Given the description of an element on the screen output the (x, y) to click on. 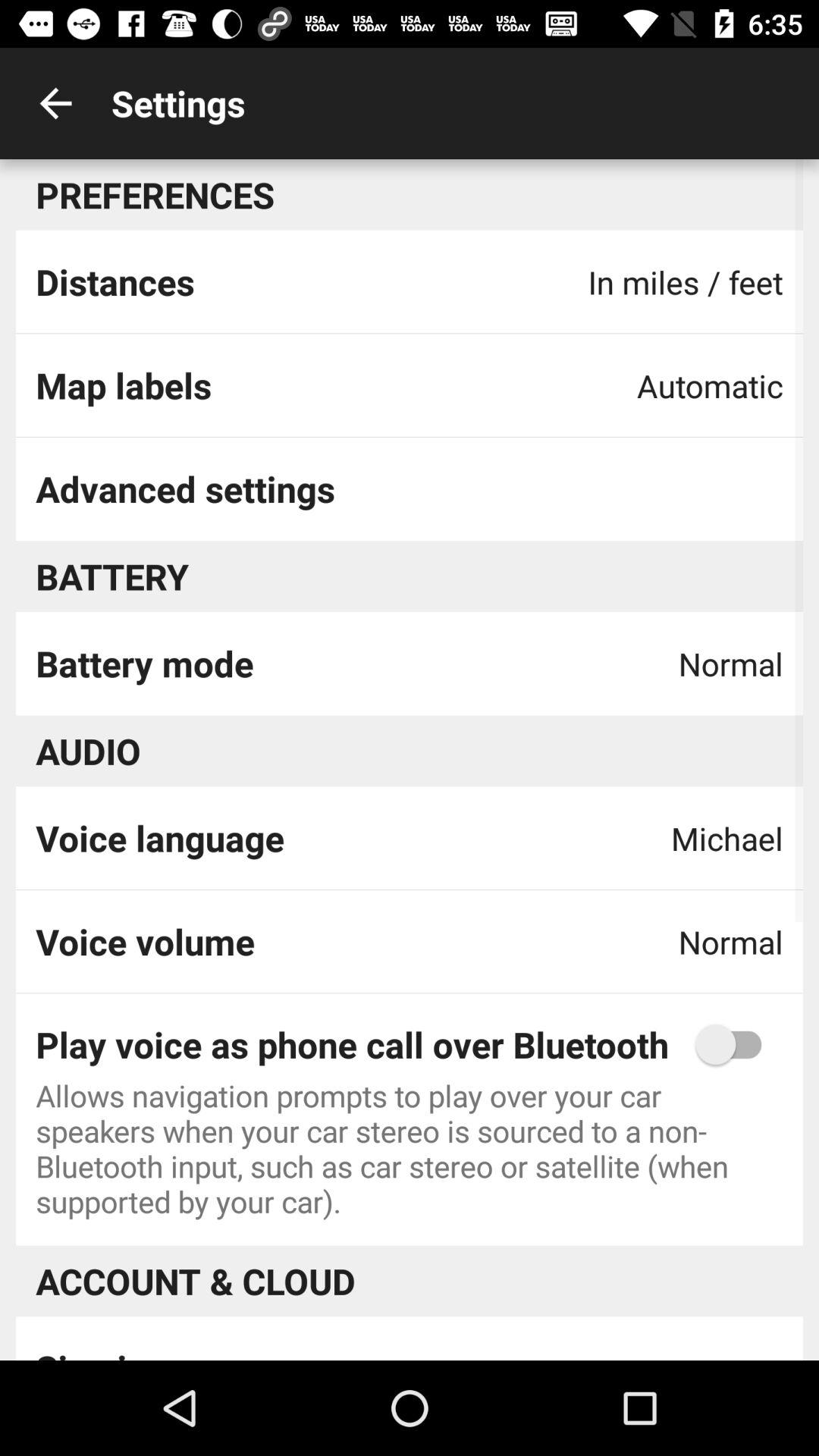
tap the item to the left of settings icon (55, 103)
